Given the description of an element on the screen output the (x, y) to click on. 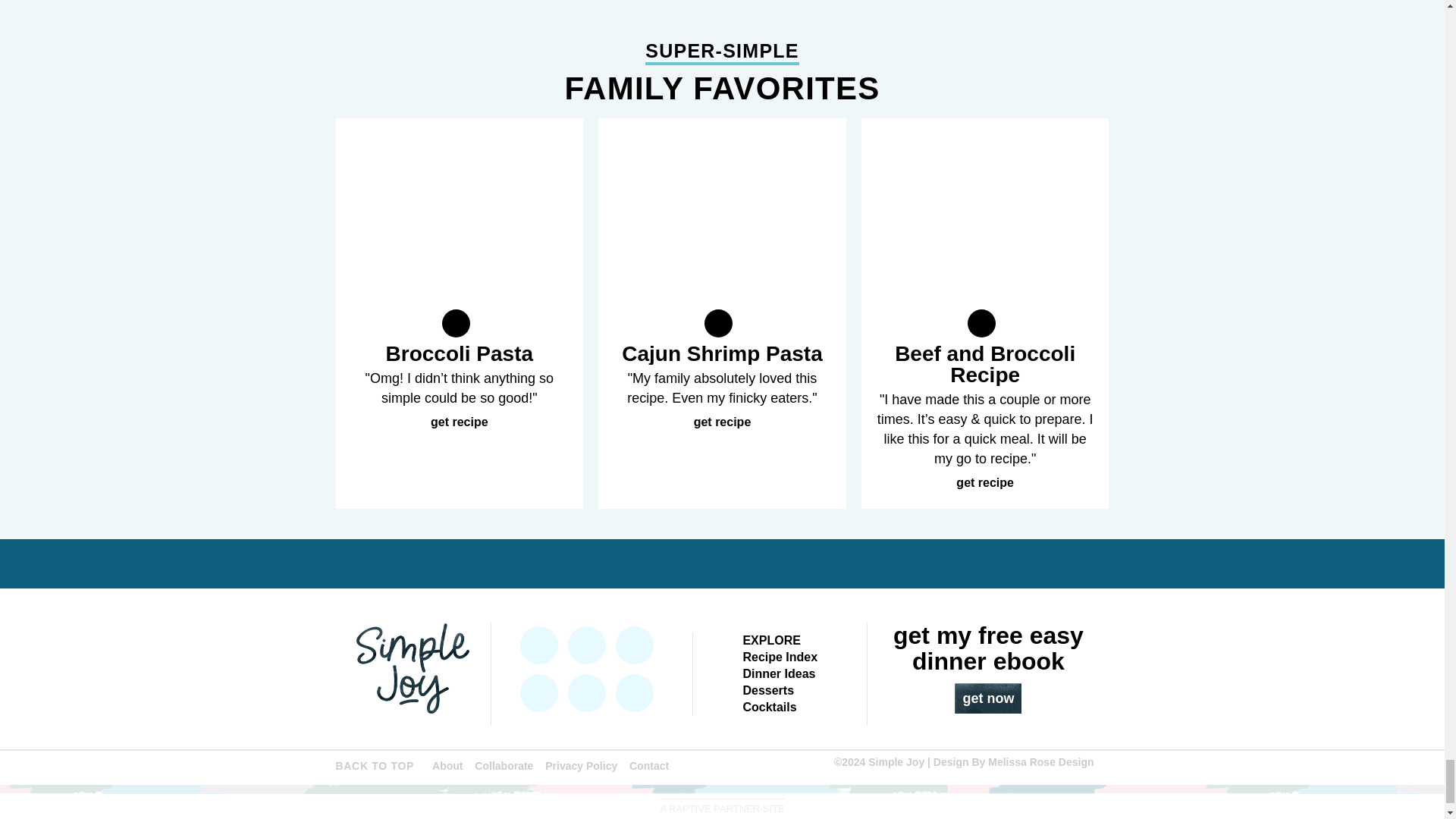
Desserts (767, 689)
Dinner Ideas (778, 673)
Cocktails (769, 707)
Recipe Index (779, 656)
